Given the description of an element on the screen output the (x, y) to click on. 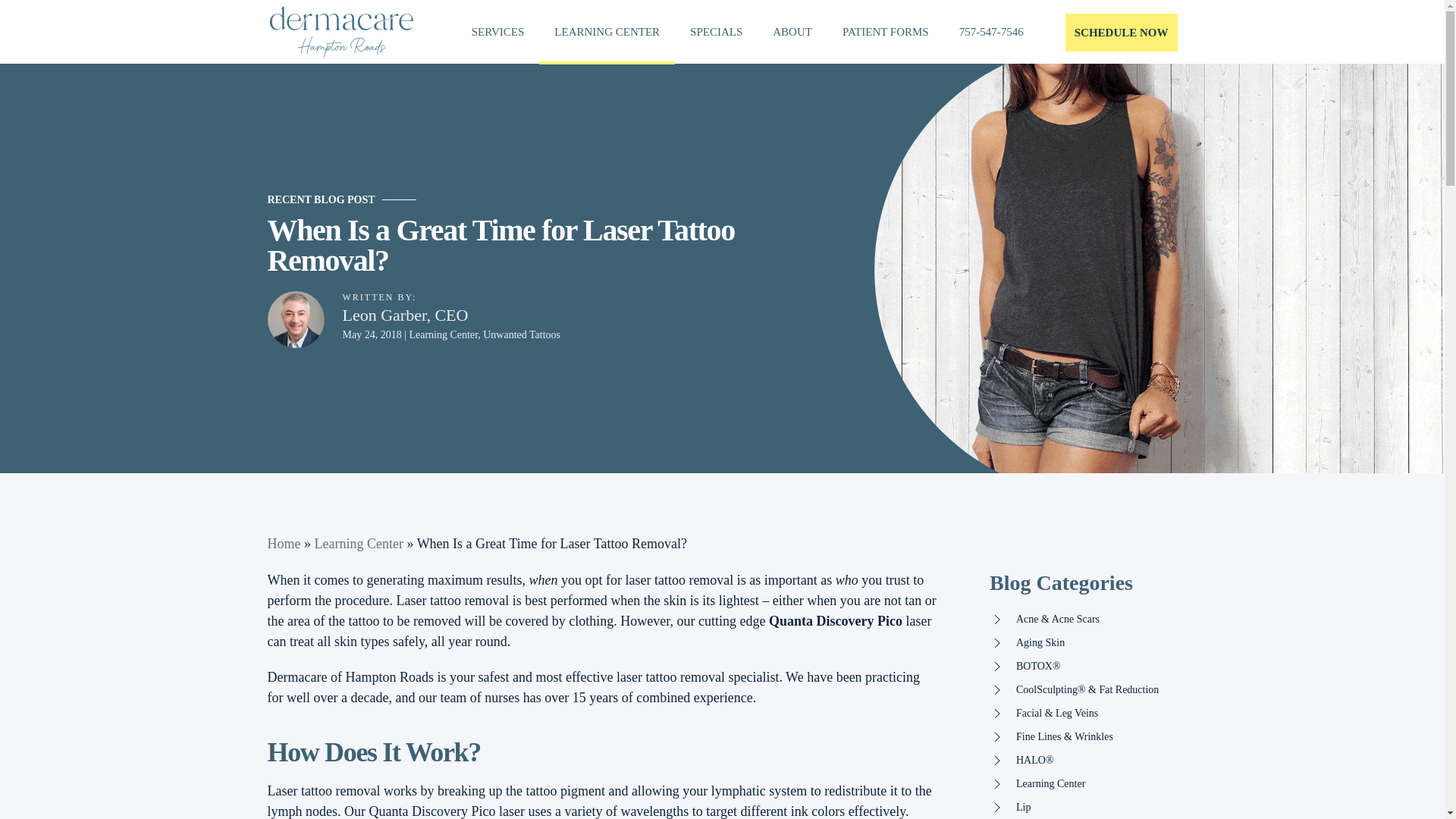
Home (282, 543)
Learning Center (358, 543)
SERVICES (498, 32)
